Given the description of an element on the screen output the (x, y) to click on. 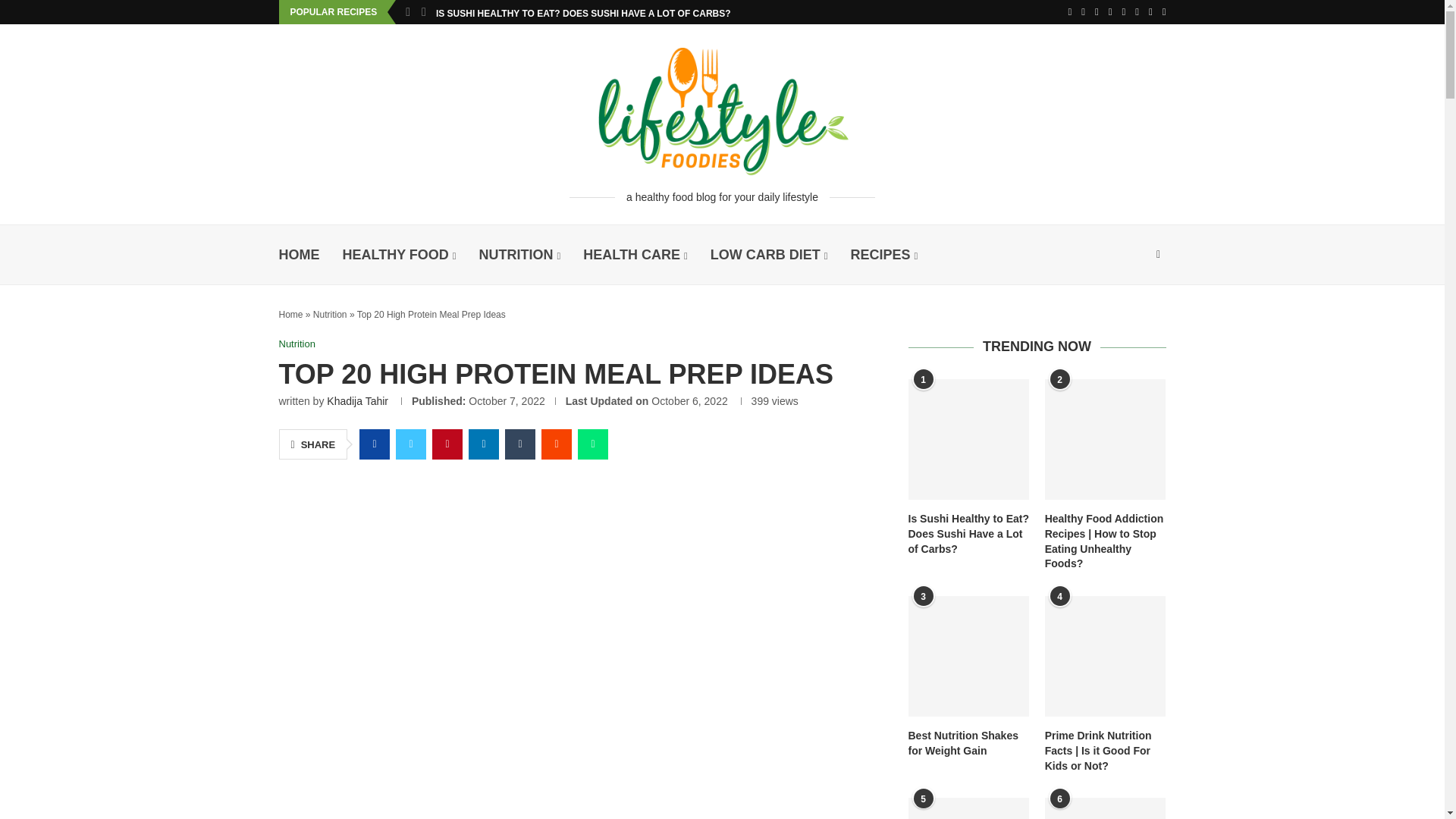
NUTRITION (519, 255)
HEALTHY FOOD (399, 255)
HOME (299, 255)
IS SUSHI HEALTHY TO EAT? DOES SUSHI HAVE A LOT OF CARBS? (582, 13)
